Given the description of an element on the screen output the (x, y) to click on. 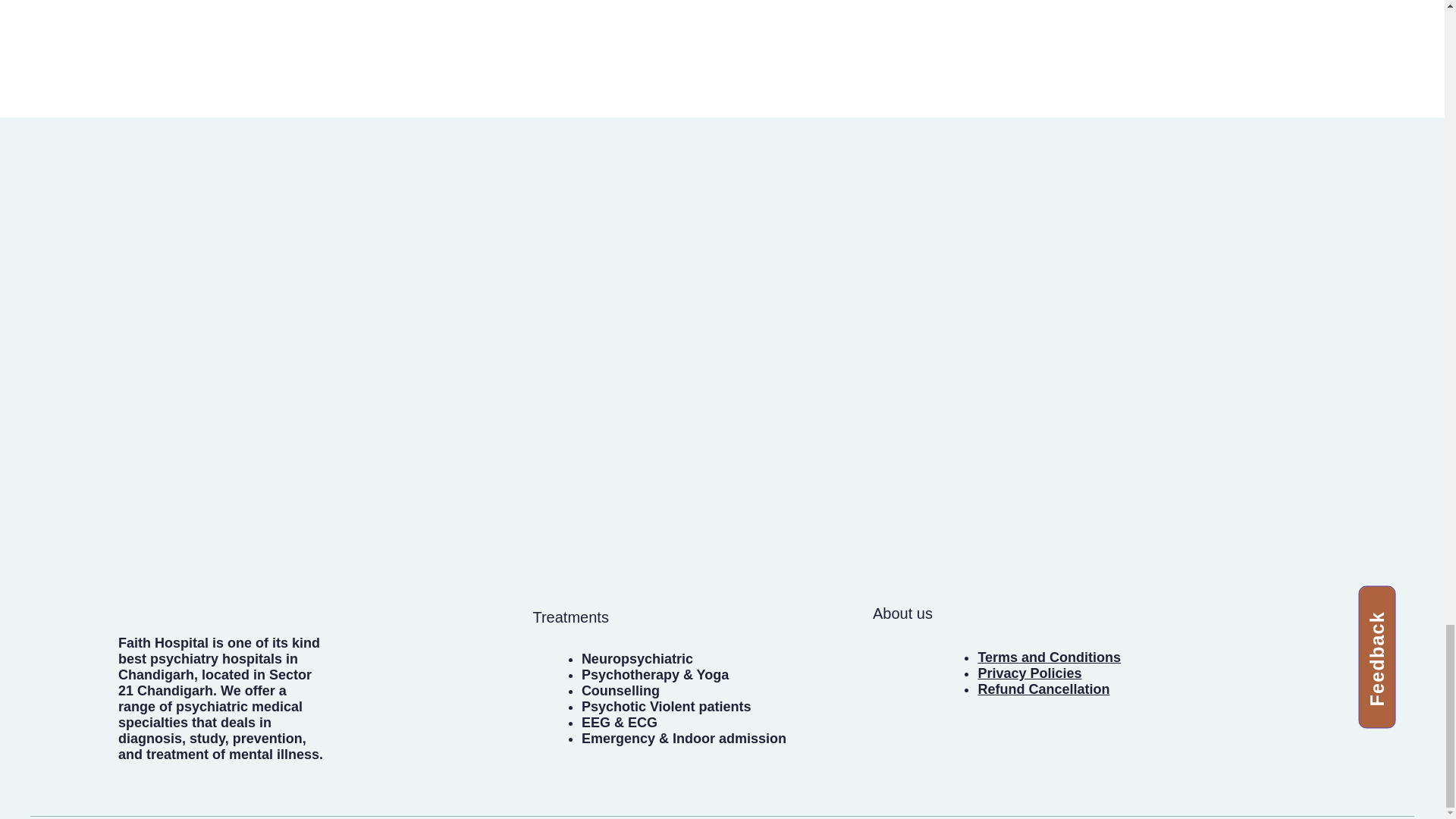
Refund Cancellation (1042, 688)
Terms and Conditions (1048, 657)
Treatments (570, 617)
About us (902, 613)
Privacy Policies (1028, 672)
